Given the description of an element on the screen output the (x, y) to click on. 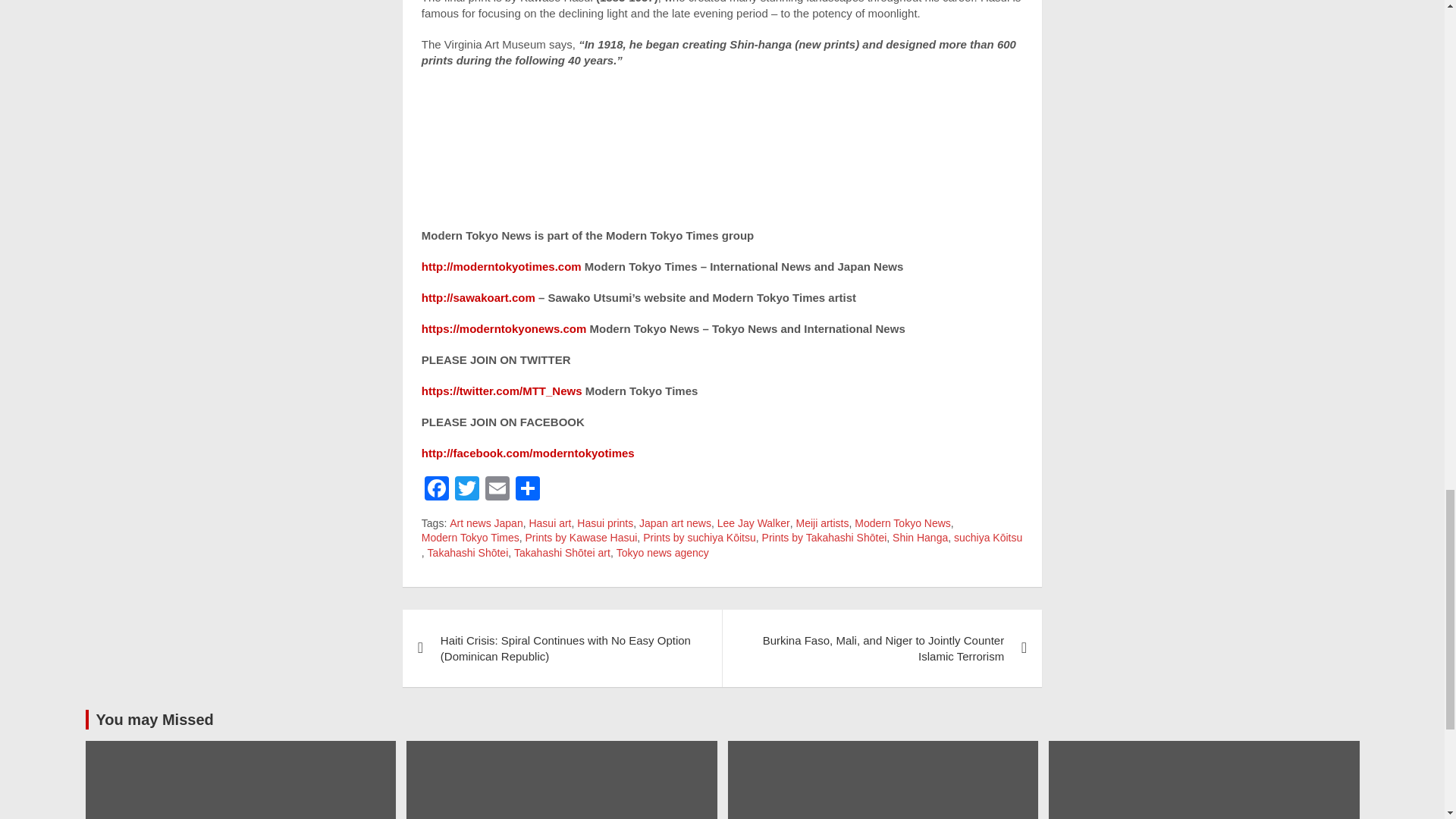
Hasui prints (604, 523)
Share (527, 489)
Meiji artists (821, 523)
Lee Jay Walker (753, 523)
Twitter (466, 489)
Prints by Kawase Hasui (581, 538)
Modern Tokyo News (902, 523)
Modern Tokyo Times (470, 538)
Email (496, 489)
Japan art news (675, 523)
Twitter (466, 489)
Art news Japan (485, 523)
Facebook (436, 489)
Shin Hanga (919, 538)
Email (496, 489)
